Given the description of an element on the screen output the (x, y) to click on. 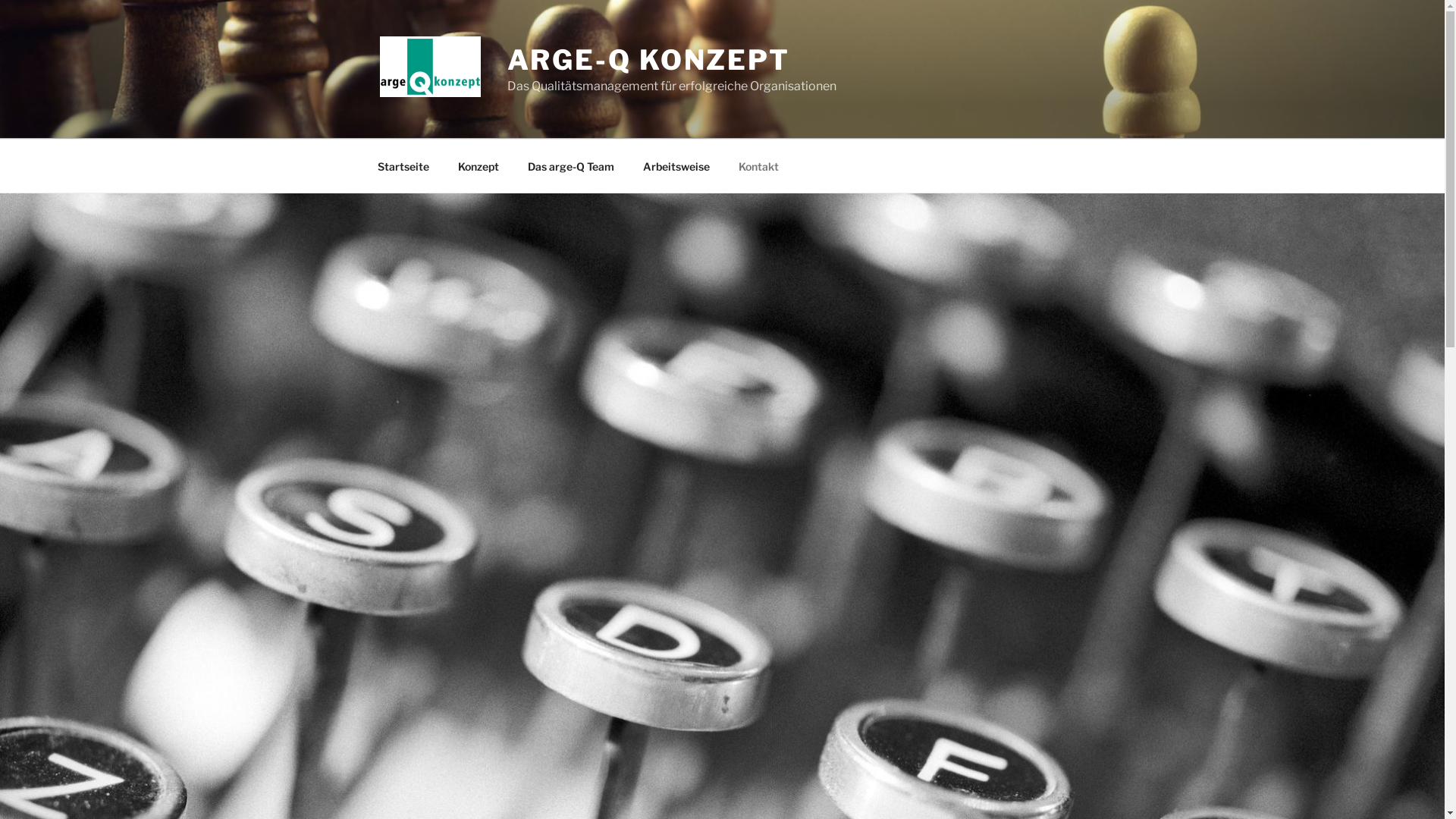
Startseite Element type: text (403, 165)
ARGE-Q KONZEPT Element type: text (648, 59)
Kontakt Element type: text (757, 165)
Das arge-Q Team Element type: text (570, 165)
Konzept Element type: text (477, 165)
Arbeitsweise Element type: text (675, 165)
